Given the description of an element on the screen output the (x, y) to click on. 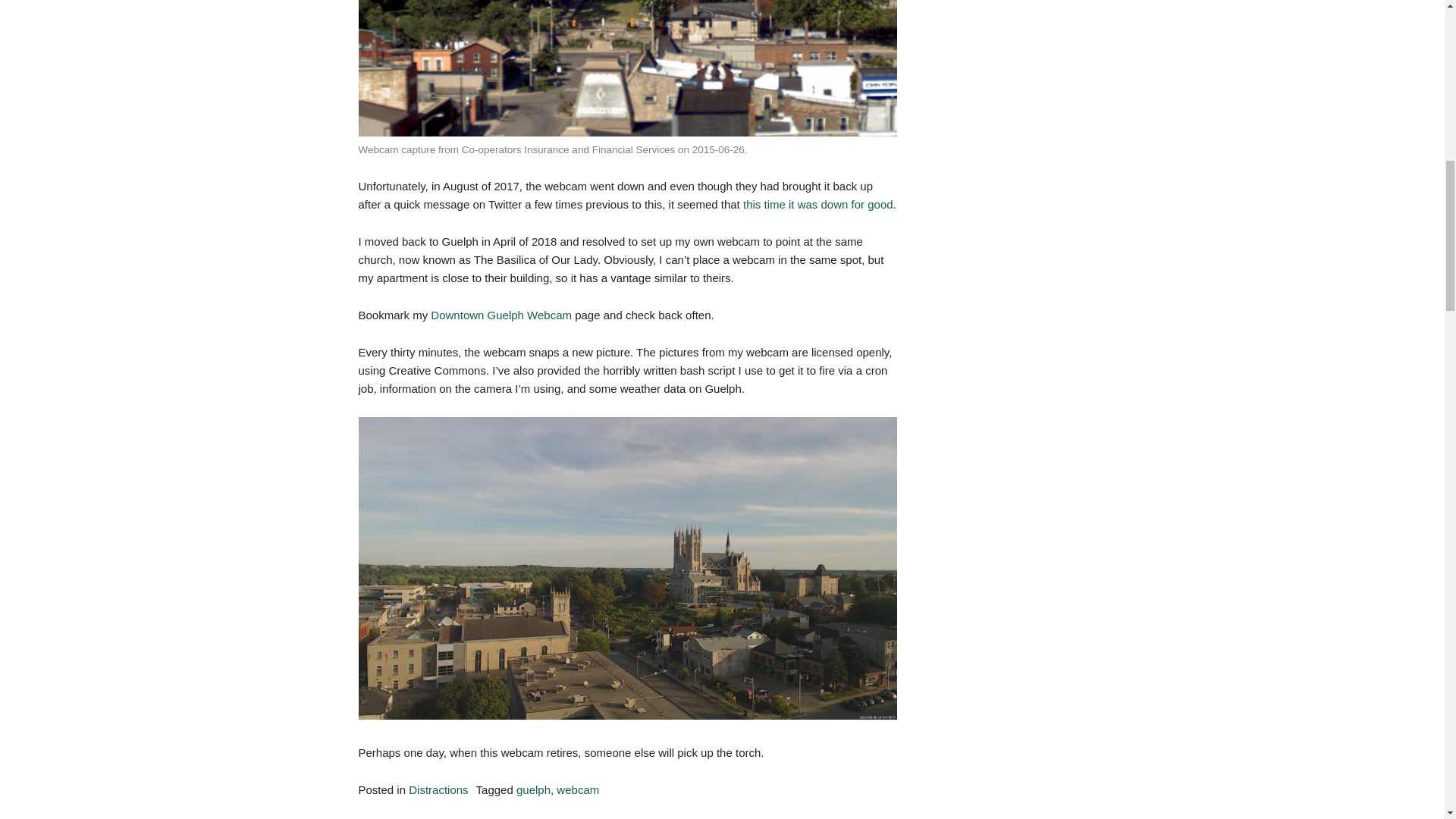
webcam (577, 789)
this time it was down for good (817, 204)
guelph (533, 789)
Distractions (438, 789)
Downtown Guelph Webcam (501, 314)
